Given the description of an element on the screen output the (x, y) to click on. 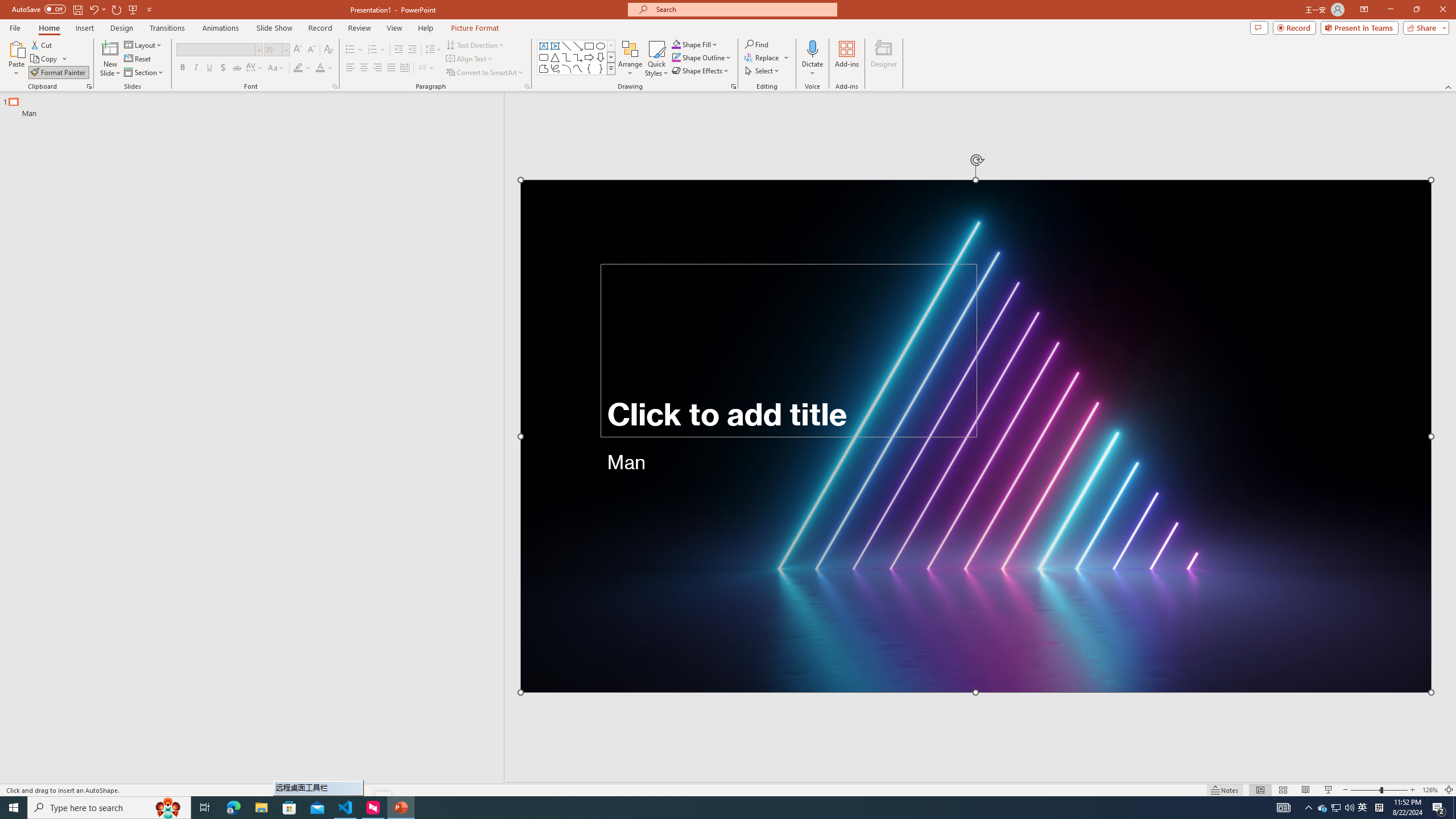
Bullets (349, 49)
Shape Effects (700, 69)
Increase Indent (412, 49)
Designer (883, 58)
Shape Fill Orange, Accent 2 (675, 44)
Font (215, 49)
Row up (611, 45)
Office Clipboard... (88, 85)
Picture Format (475, 28)
Copy (45, 58)
Change Case (276, 67)
